Given the description of an element on the screen output the (x, y) to click on. 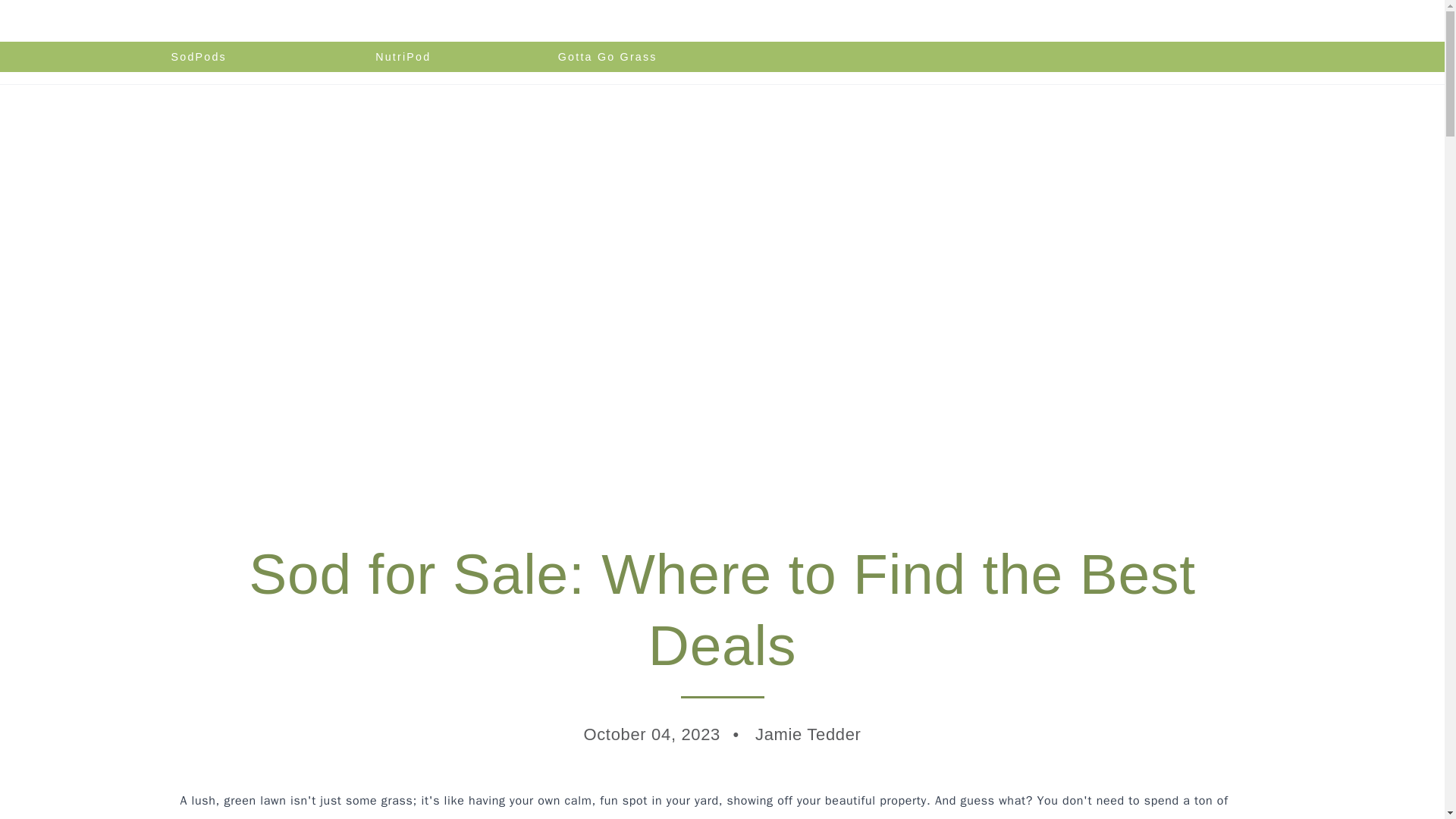
ABOUT US (886, 57)
Gotta Go Grass (607, 56)
NutriPod (402, 56)
SHOP (794, 57)
MINISTRY (992, 57)
SodPods (199, 56)
HOME (718, 57)
SKIP TO CONTENT (74, 57)
